Given the description of an element on the screen output the (x, y) to click on. 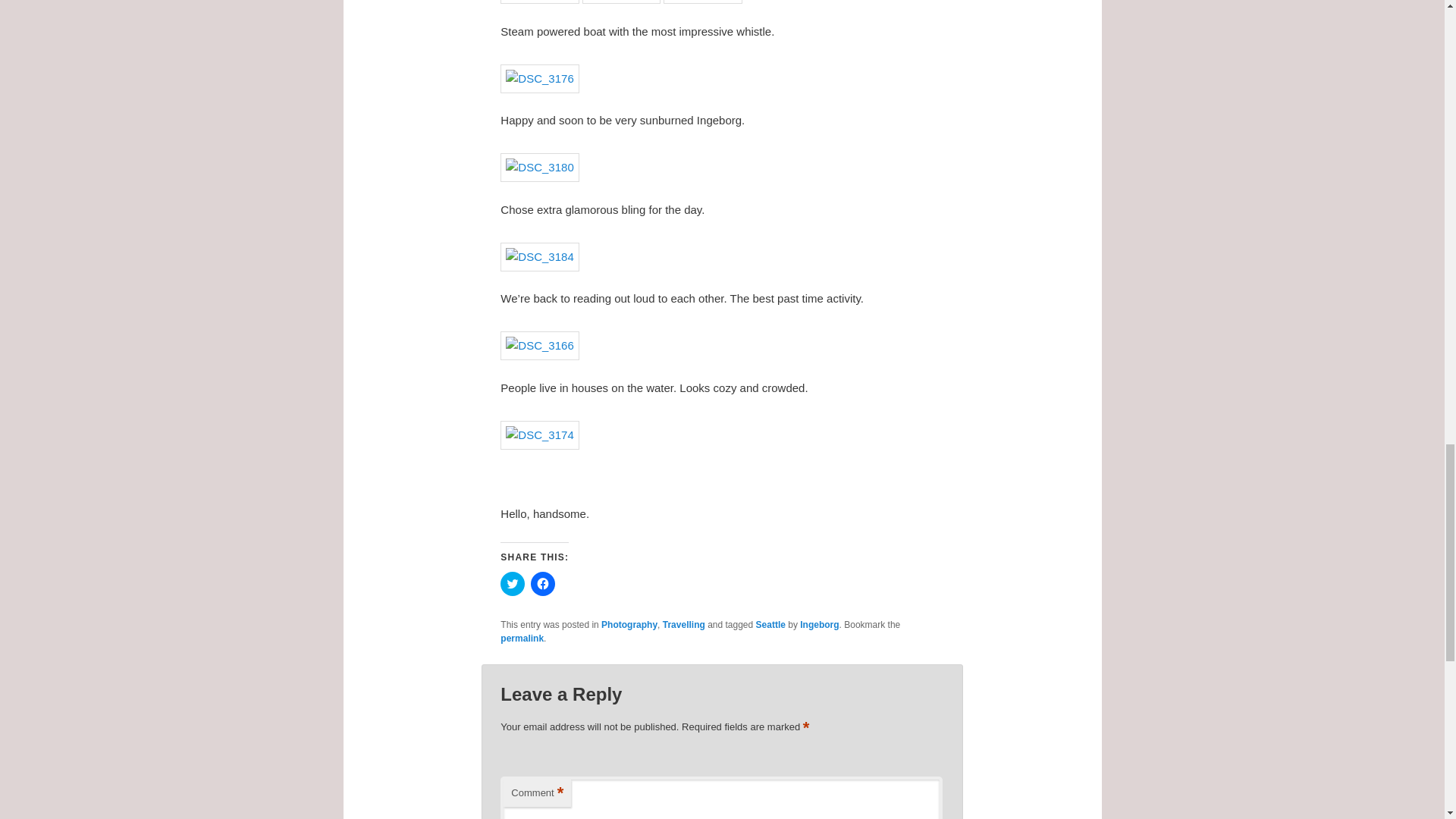
Ingeborg (818, 624)
Click to share on Twitter (512, 583)
Permalink to Sunday in Eastlake (521, 638)
Click to share on Facebook (542, 583)
Seattle (770, 624)
Travelling (683, 624)
permalink (521, 638)
Photography (629, 624)
